Given the description of an element on the screen output the (x, y) to click on. 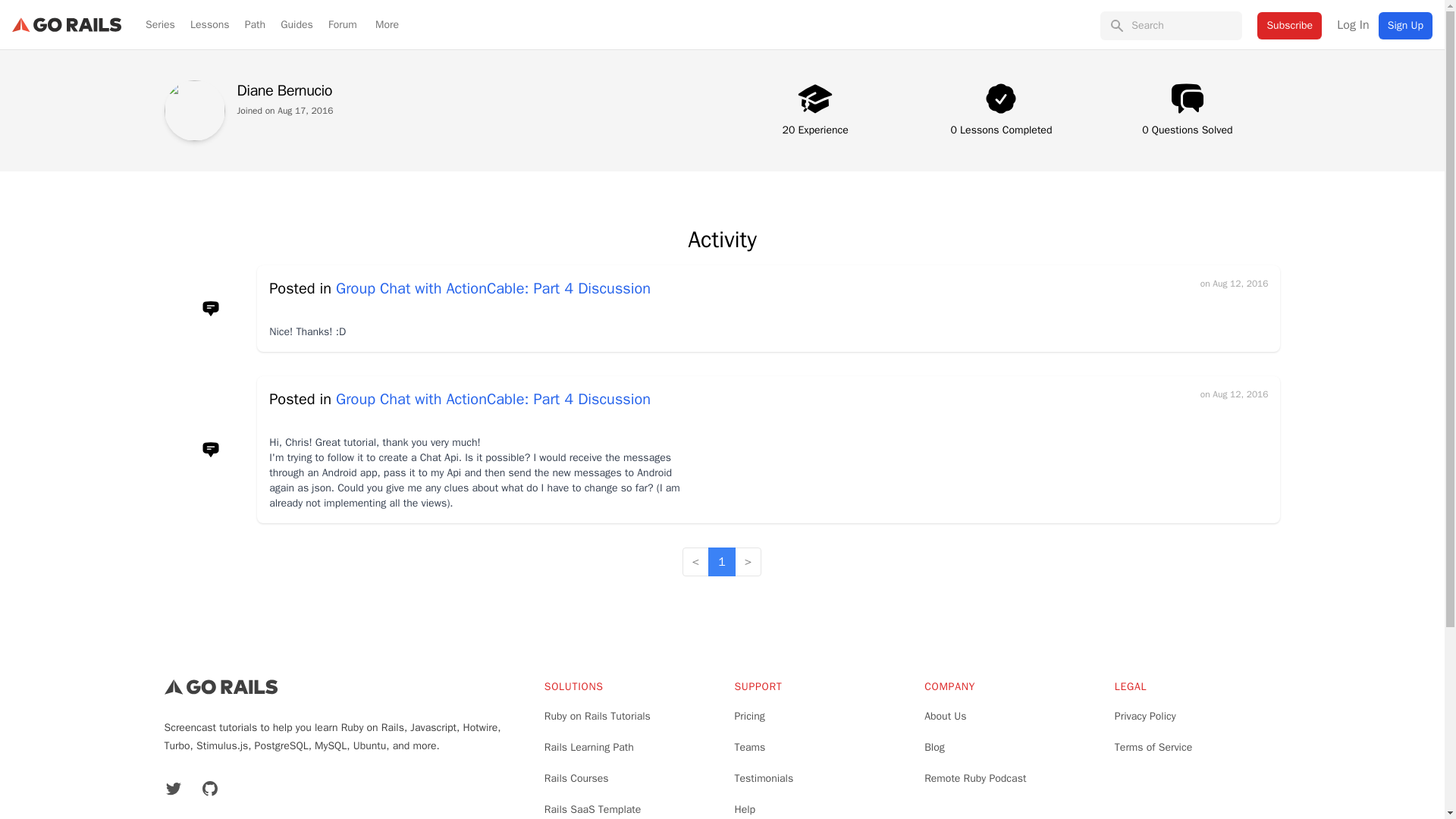
August 17, 2016 at 2:02am CST (298, 110)
Subscribe (1289, 25)
Teams (749, 747)
August 12, 2016 at 9:03pm CST (1233, 283)
Ruby on Rails Tutorials (597, 716)
1 (721, 561)
GitHub (209, 788)
Log In (1352, 24)
More (386, 24)
Sign Up (1405, 25)
